Given the description of an element on the screen output the (x, y) to click on. 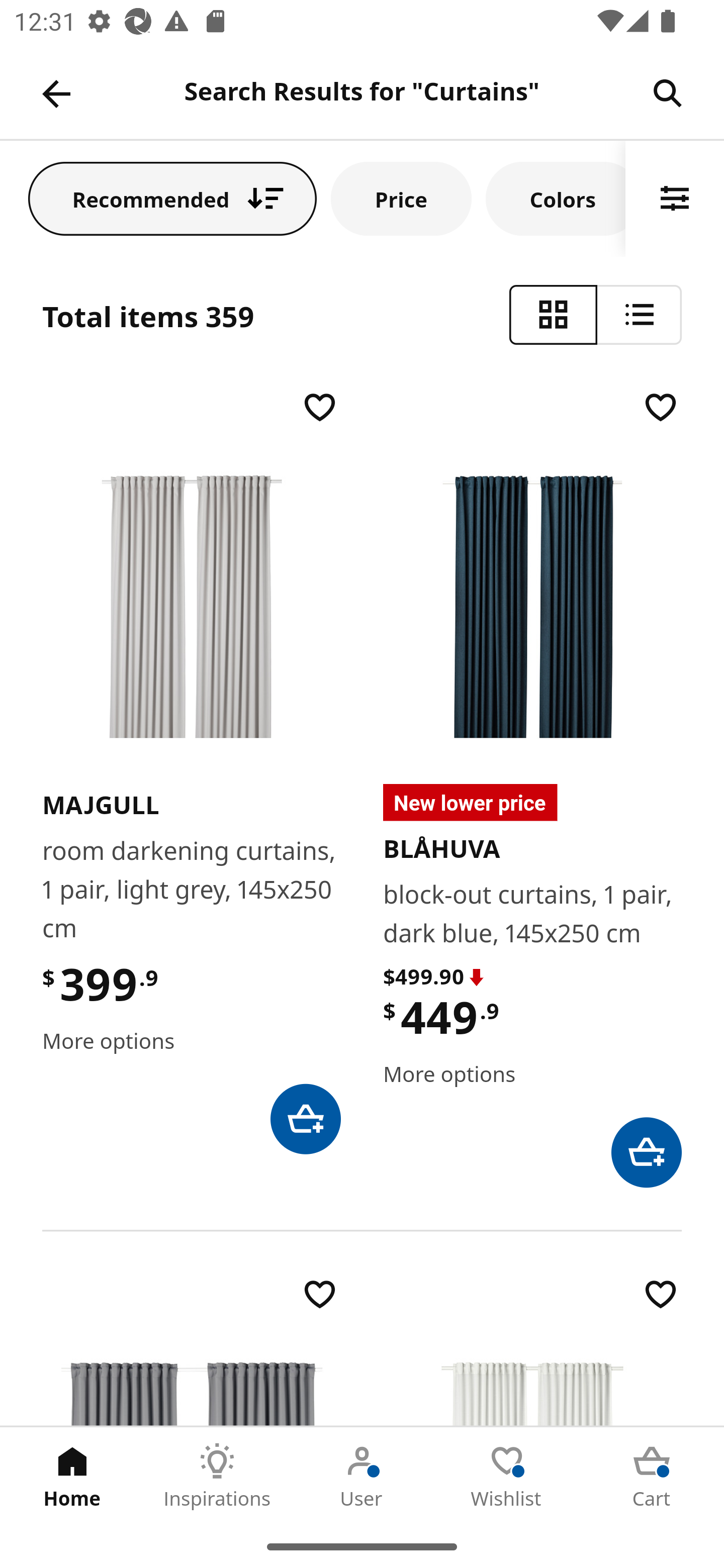
Recommended (172, 198)
Price (400, 198)
Colors (555, 198)
Home
Tab 1 of 5 (72, 1476)
Inspirations
Tab 2 of 5 (216, 1476)
User
Tab 3 of 5 (361, 1476)
Wishlist
Tab 4 of 5 (506, 1476)
Cart
Tab 5 of 5 (651, 1476)
